Given the description of an element on the screen output the (x, y) to click on. 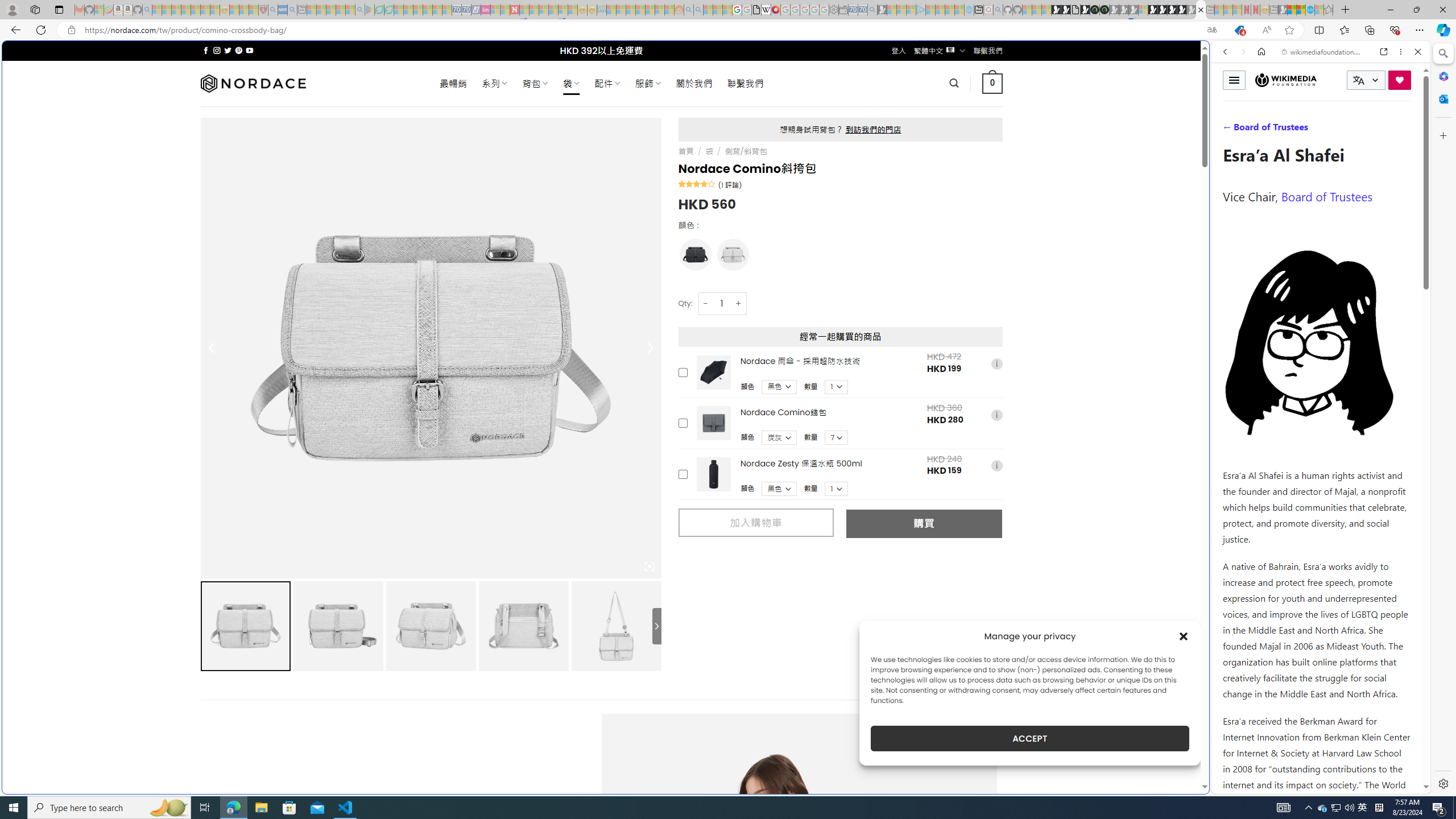
utah sues federal government - Search (922, 389)
